Given the description of an element on the screen output the (x, y) to click on. 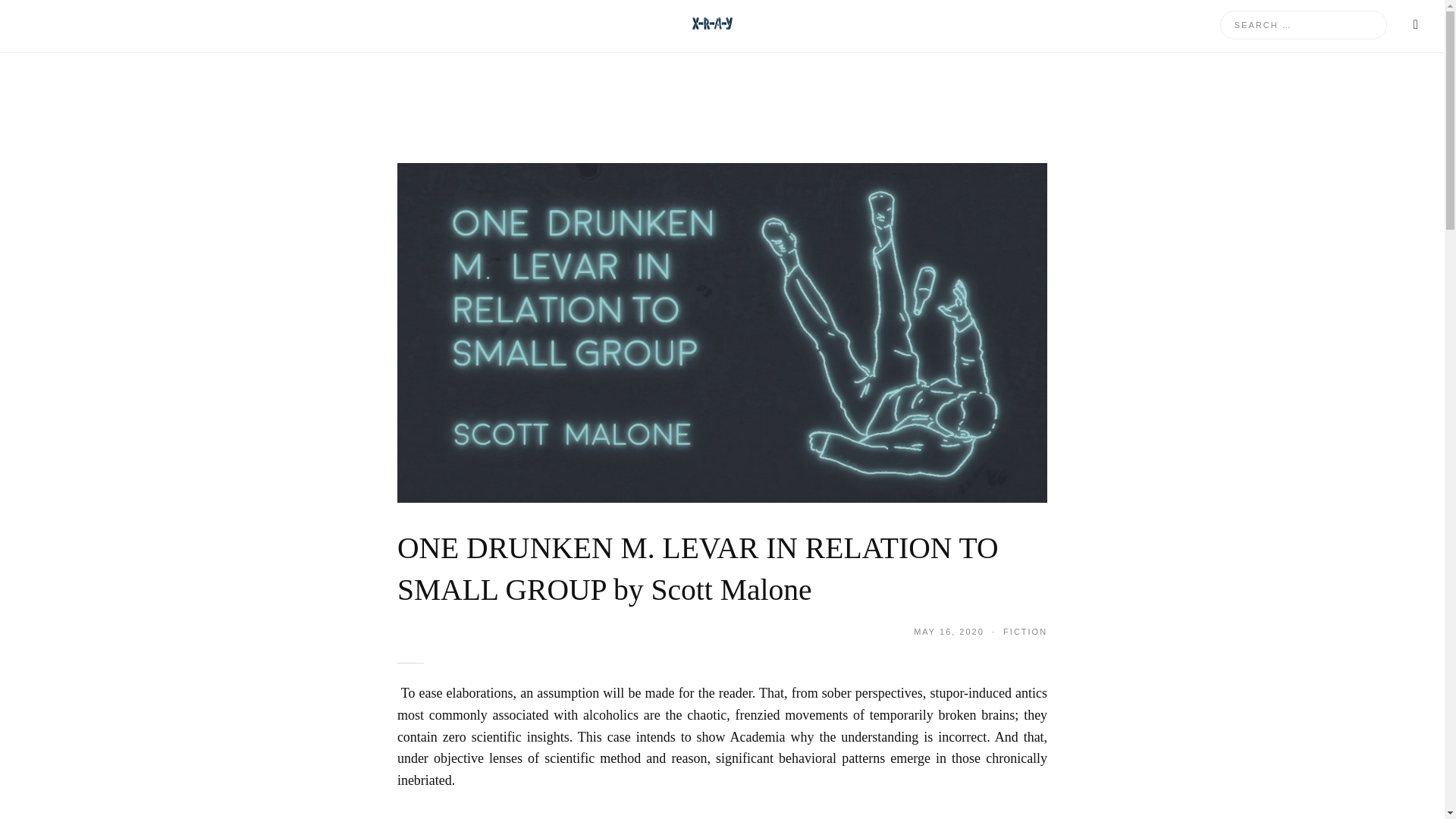
Search (38, 18)
